Given the description of an element on the screen output the (x, y) to click on. 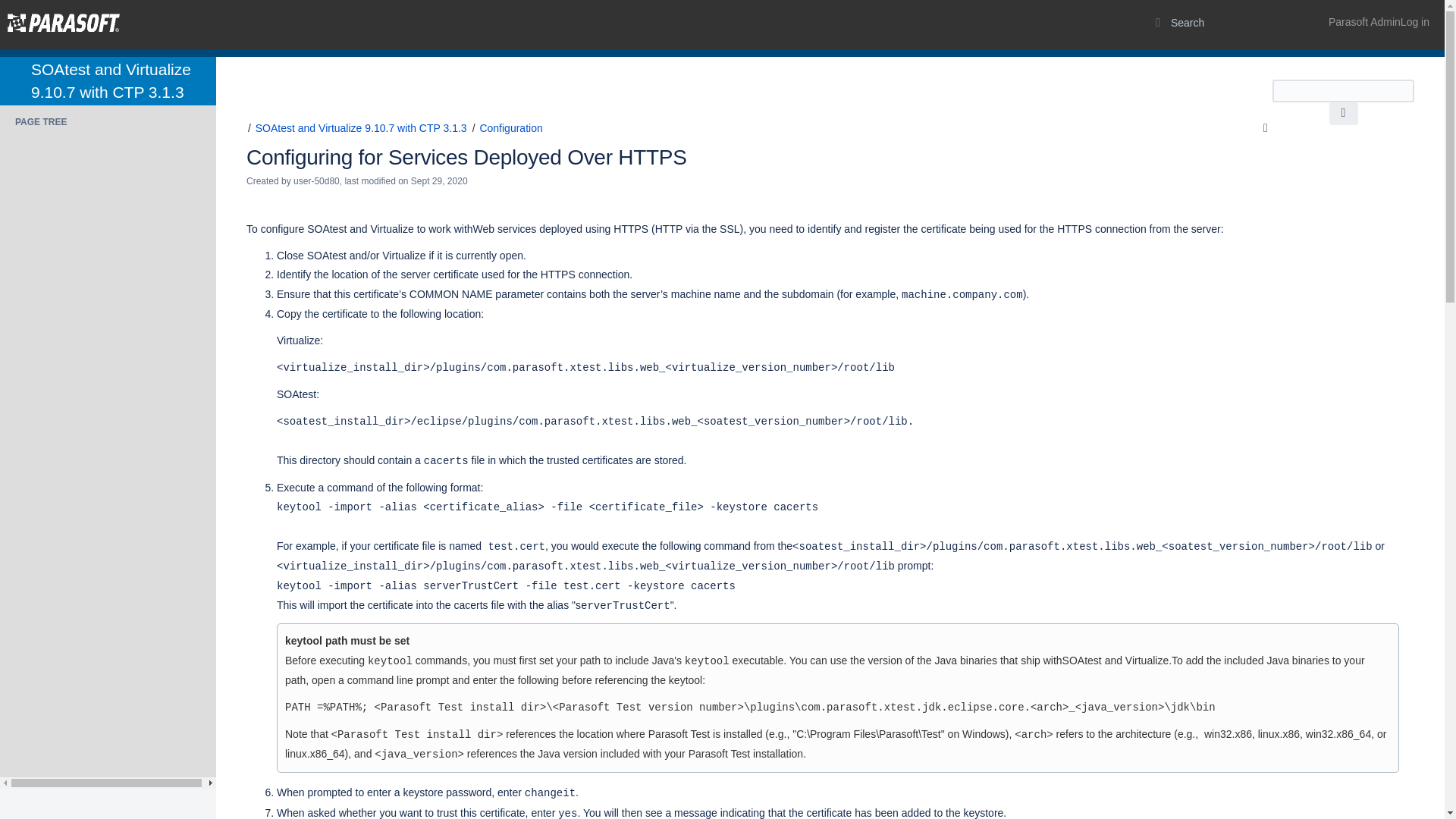
Search (1341, 113)
Configuration (510, 128)
SOAtest and Virtualize 9.10.7 with CTP 3.1.3 (110, 80)
SOAtest and Virtualize 9.10.7 with CTP 3.1.3 (110, 80)
Log in (1378, 22)
SOAtest and Virtualize 9.10.7 with CTP 3.1.3 (361, 128)
